Given the description of an element on the screen output the (x, y) to click on. 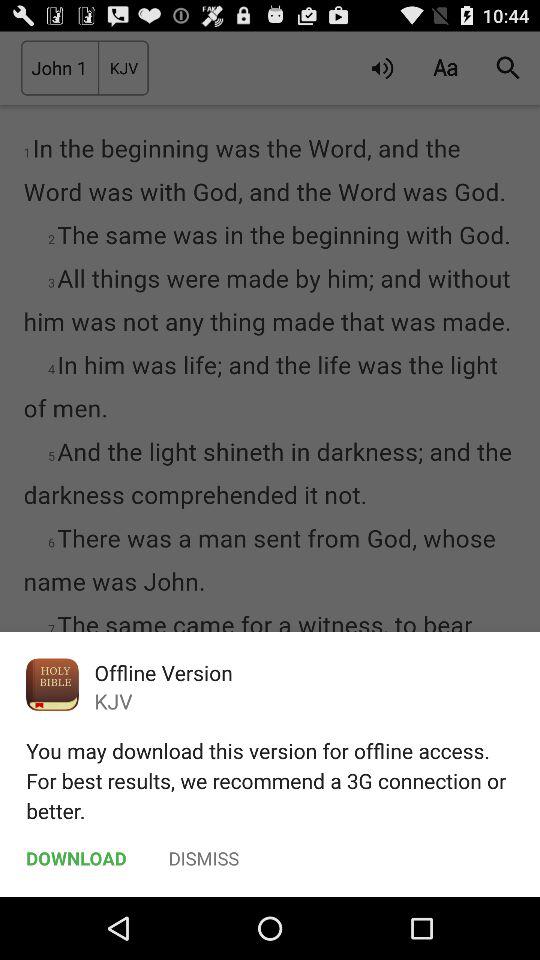
turn off the item to the right of the download icon (203, 858)
